Given the description of an element on the screen output the (x, y) to click on. 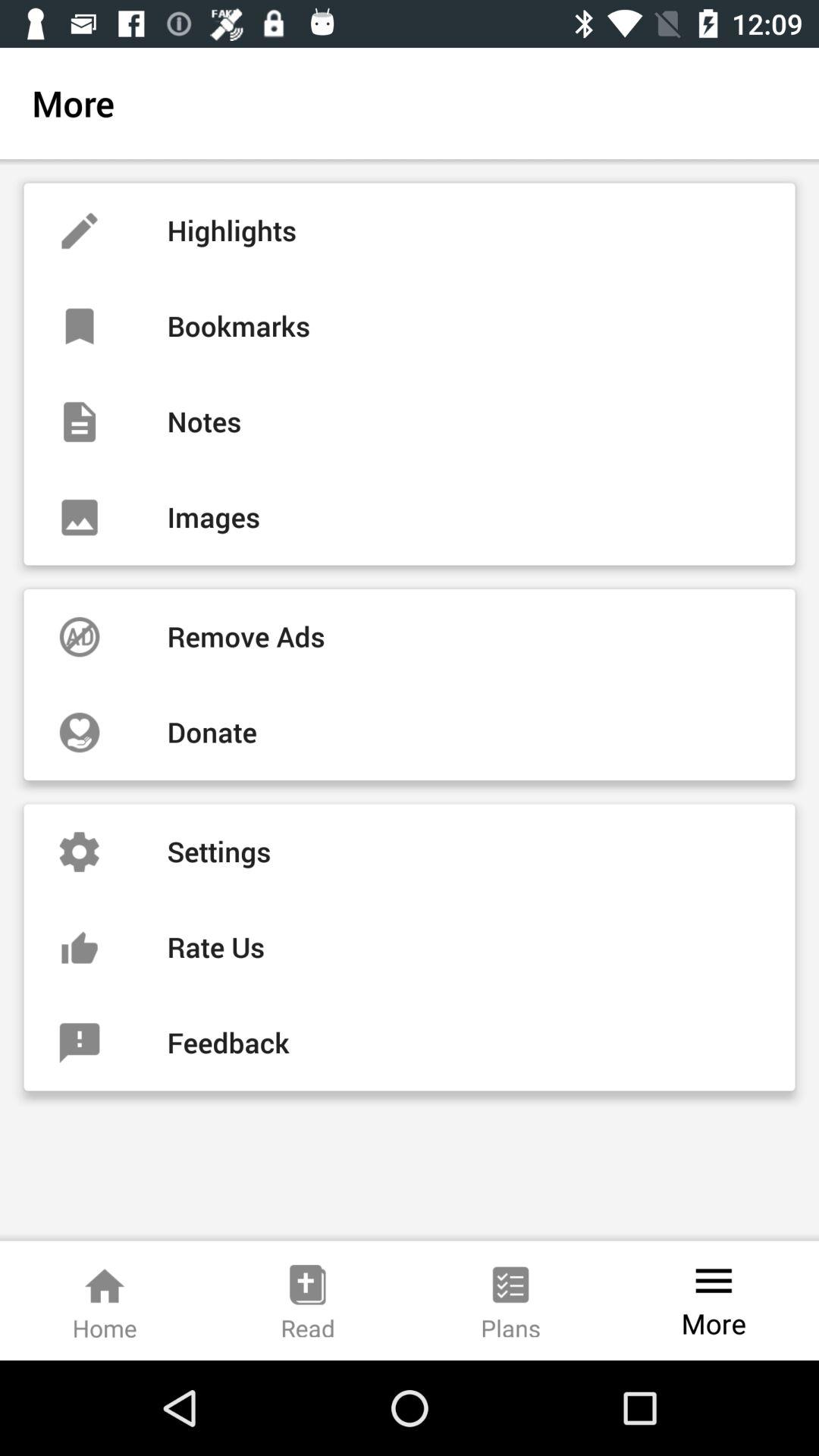
jump to remove ads (409, 636)
